Given the description of an element on the screen output the (x, y) to click on. 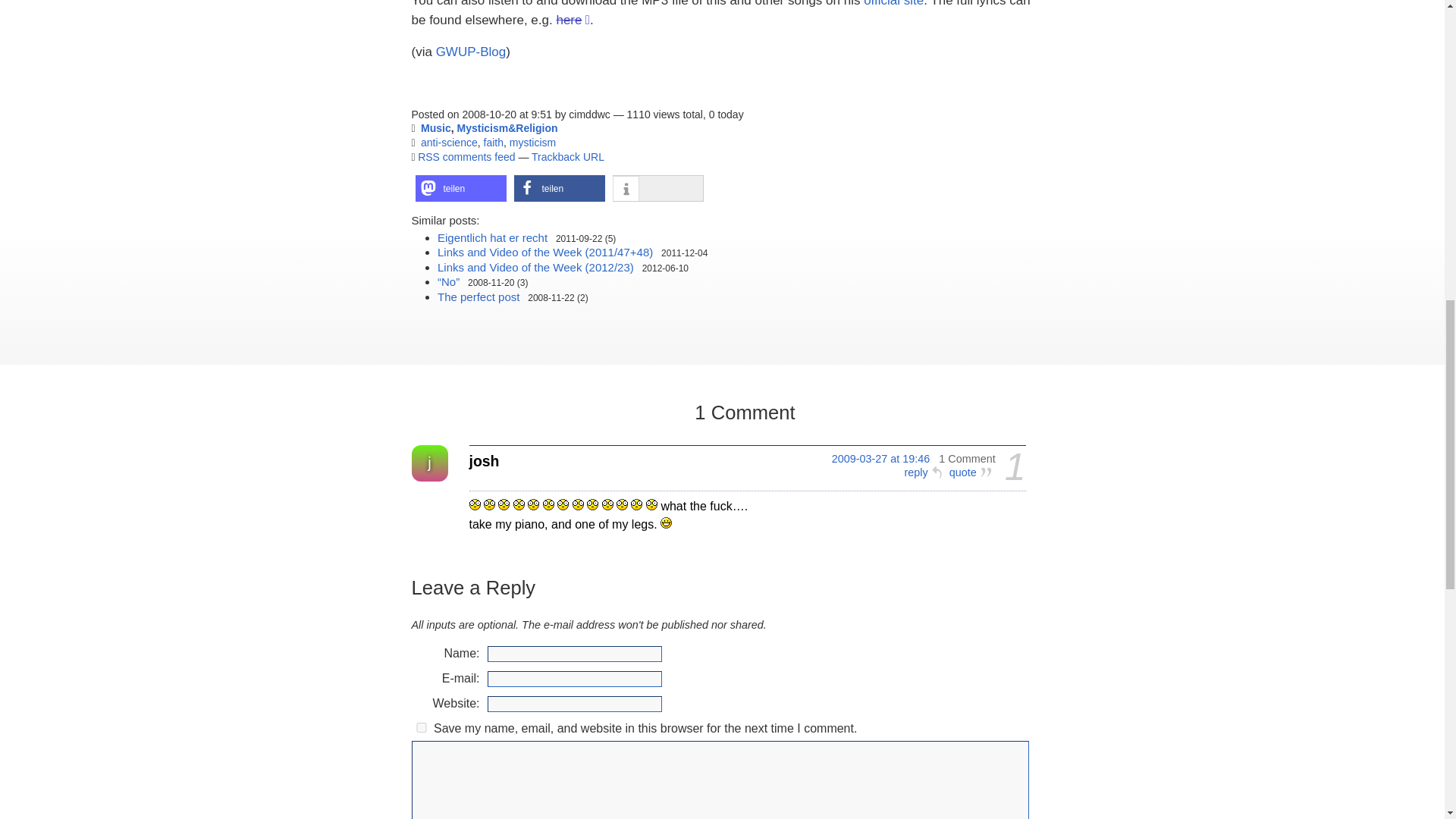
Bei Mastodon teilen (460, 188)
Bei Facebook teilen (559, 188)
yes (420, 727)
Weitere Informationen (625, 189)
Permalink to this comment (880, 458)
Display all 533 posts in Music  (435, 128)
